Given the description of an element on the screen output the (x, y) to click on. 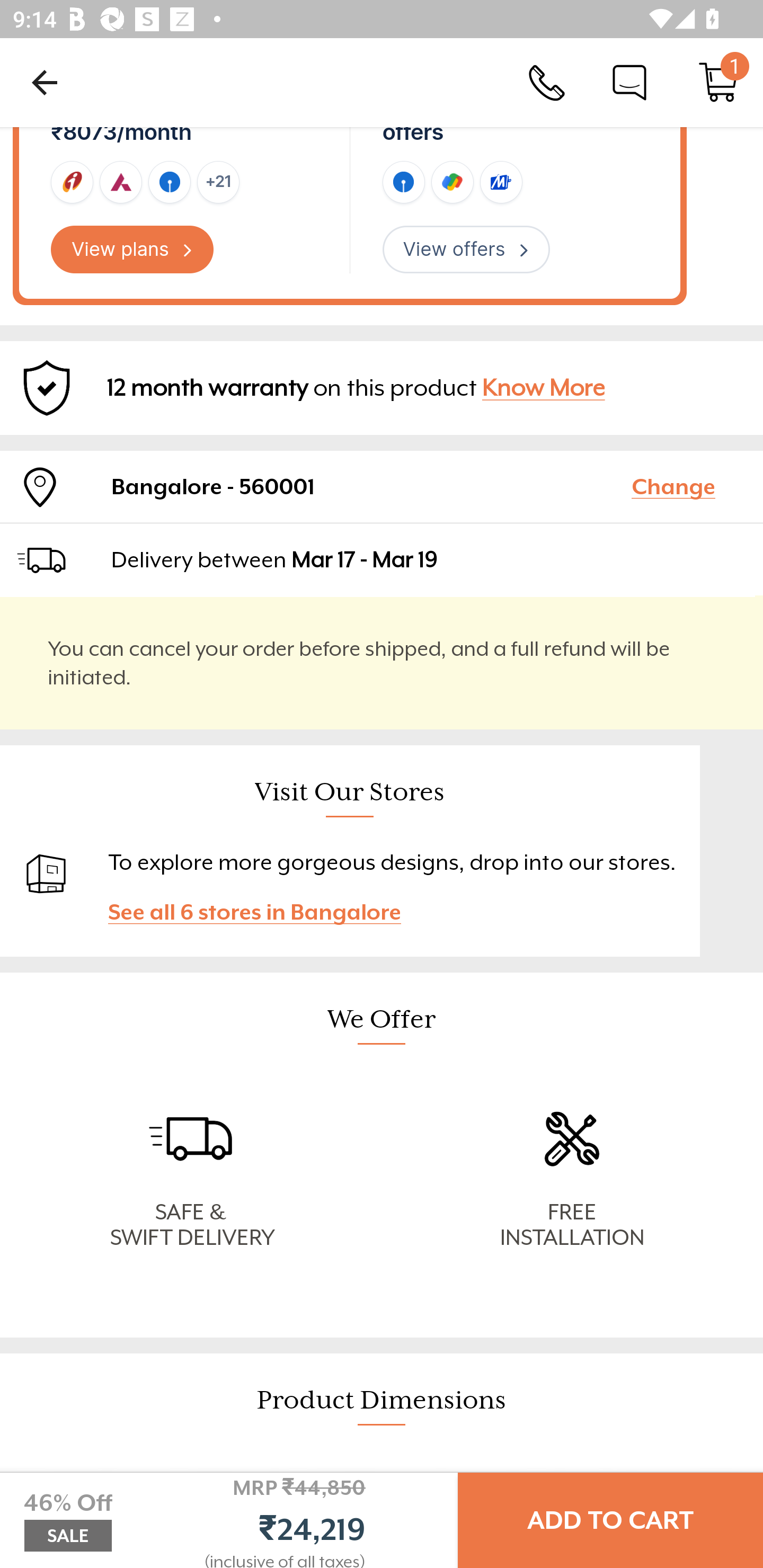
Navigate up (44, 82)
Call Us (546, 81)
Chat (629, 81)
Cart (718, 81)
View plans (132, 249)
View offers (465, 249)
12 month warranty on this product Know More (381, 387)
 Bangalore - 560001 Change (381, 486)
Delivery between Mar 17 - Mar 19 (428, 559)
See all 6 stores in Bangalore (262, 911)
ADD TO CART (610, 1520)
